Given the description of an element on the screen output the (x, y) to click on. 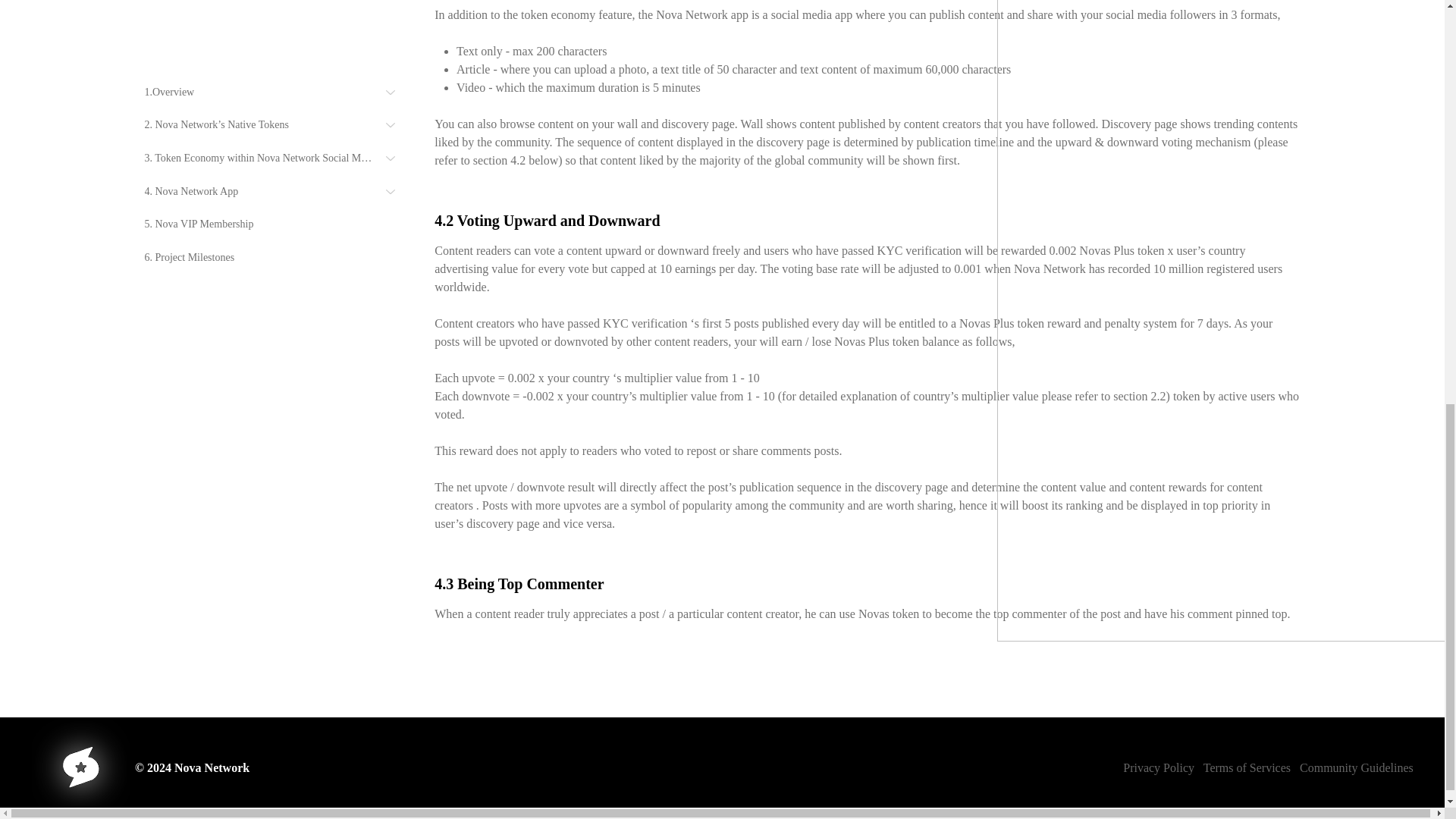
6. Project Milestones (277, 91)
Privacy Policy    (1162, 767)
5. Nova VIP Membership (277, 58)
Community Guidelines (1356, 767)
Terms of Services (1247, 767)
